Given the description of an element on the screen output the (x, y) to click on. 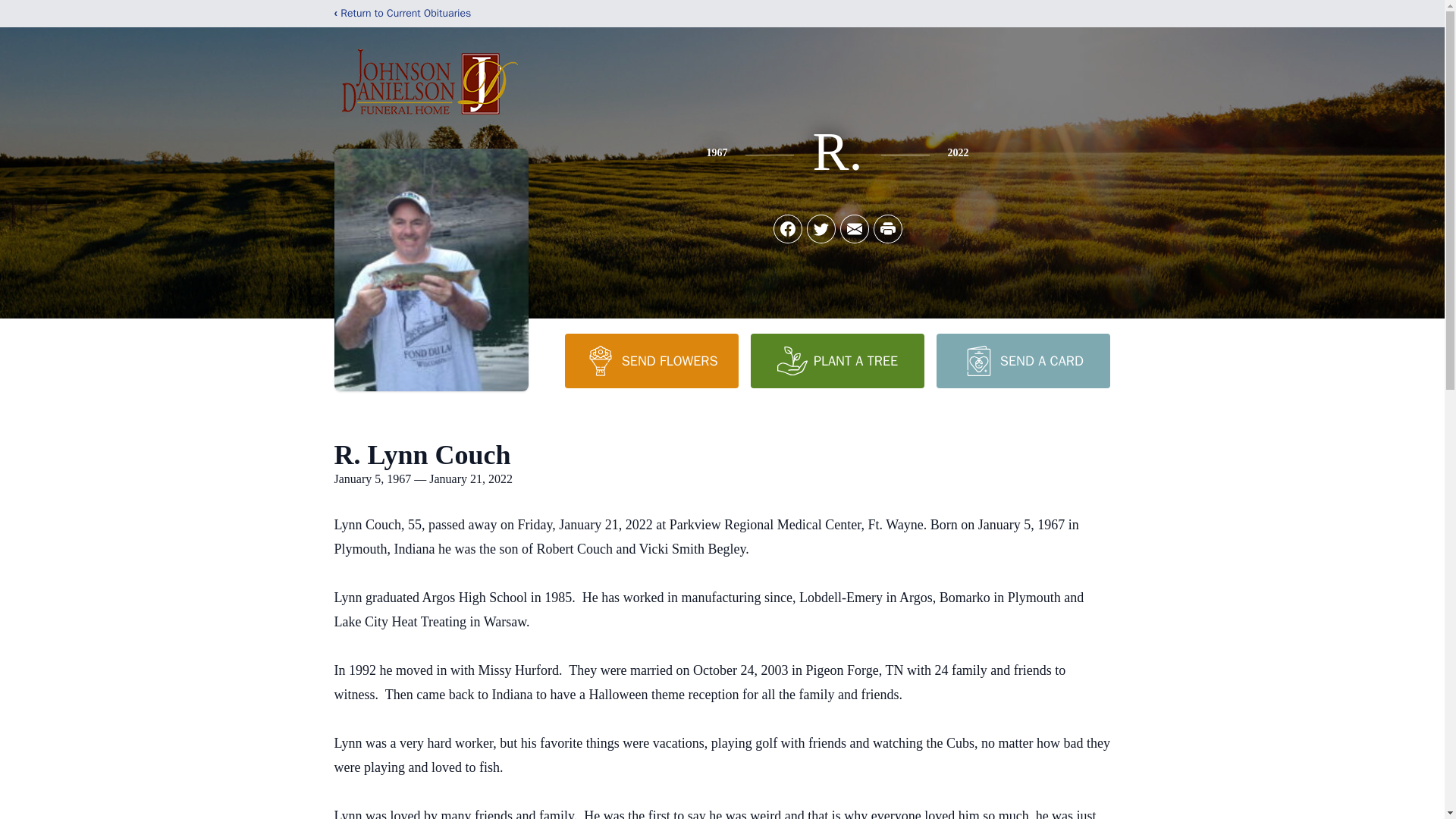
SEND A CARD (1022, 360)
PLANT A TREE (837, 360)
SEND FLOWERS (651, 360)
